Given the description of an element on the screen output the (x, y) to click on. 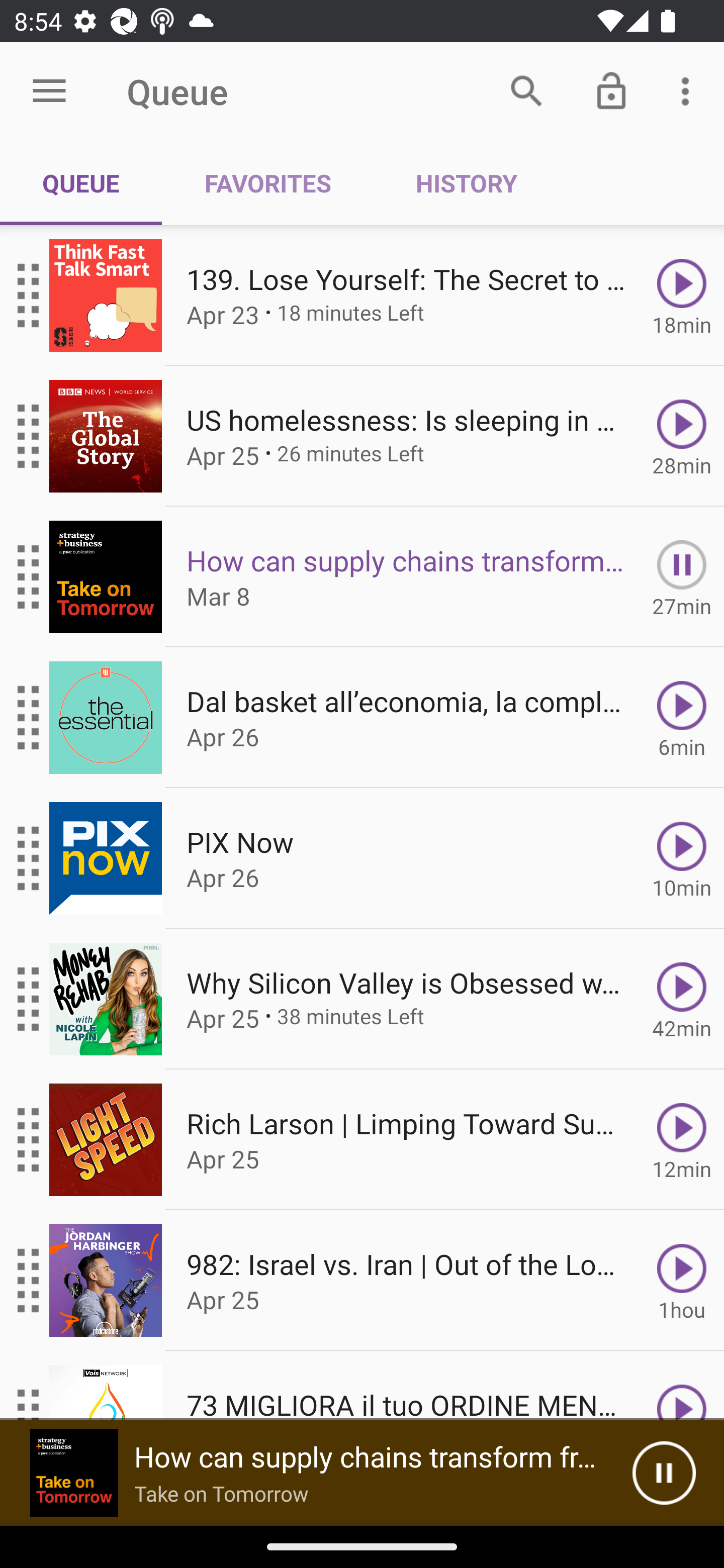
Open menu (49, 91)
Search (526, 90)
Lock Queue (611, 90)
More options (688, 90)
QUEUE (81, 183)
FAVORITES (267, 183)
HISTORY (465, 183)
Play 18min (681, 295)
Play 28min (681, 435)
Play 27min (681, 576)
Play 6min (681, 717)
Play 10min (681, 858)
Play 42min (681, 998)
Play 12min (681, 1139)
Play 1hou (681, 1280)
Play (681, 1385)
Pause (663, 1472)
